Given the description of an element on the screen output the (x, y) to click on. 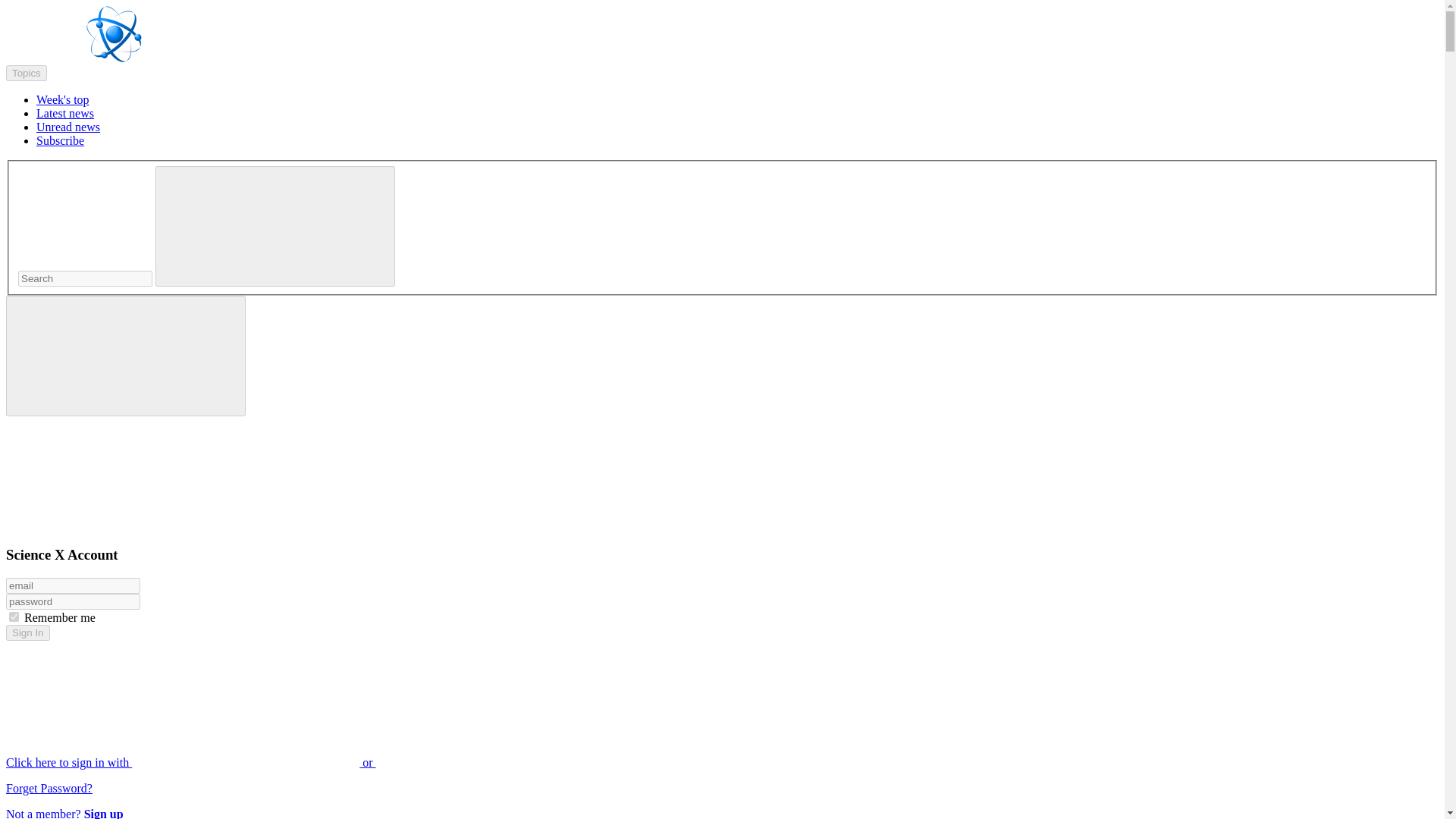
Latest news (65, 113)
on (13, 616)
Subscribe (60, 140)
Click here to sign in with or (304, 762)
Unread news (68, 126)
Forget Password? (49, 788)
Week's top (62, 99)
Sign In (27, 632)
Topics (25, 73)
Not a member? Sign up (64, 813)
